Given the description of an element on the screen output the (x, y) to click on. 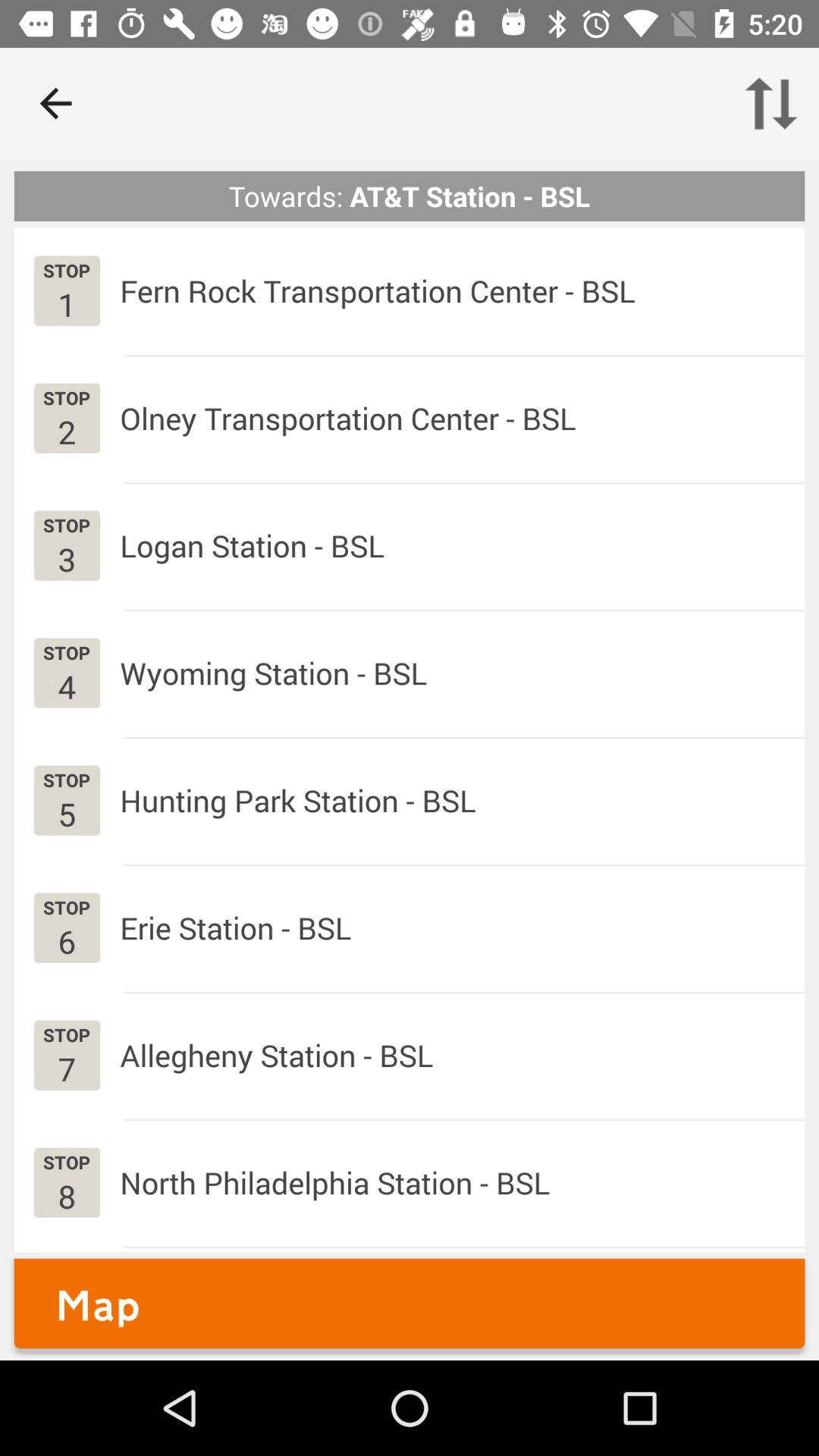
scroll to 5 icon (66, 813)
